Given the description of an element on the screen output the (x, y) to click on. 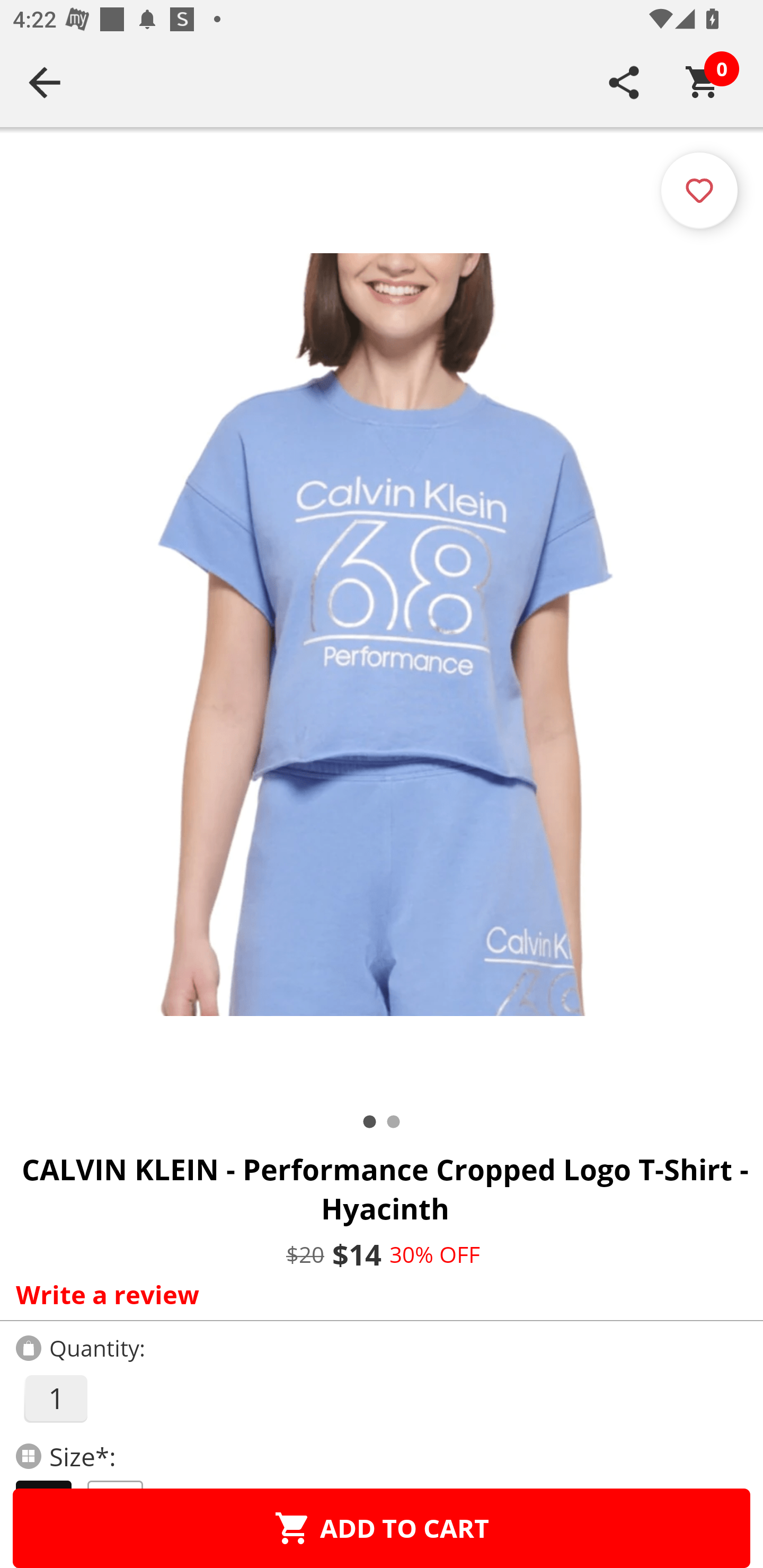
Navigate up (44, 82)
SHARE (623, 82)
Cart (703, 81)
Write a review (377, 1294)
1 (55, 1398)
ADD TO CART (381, 1528)
